Given the description of an element on the screen output the (x, y) to click on. 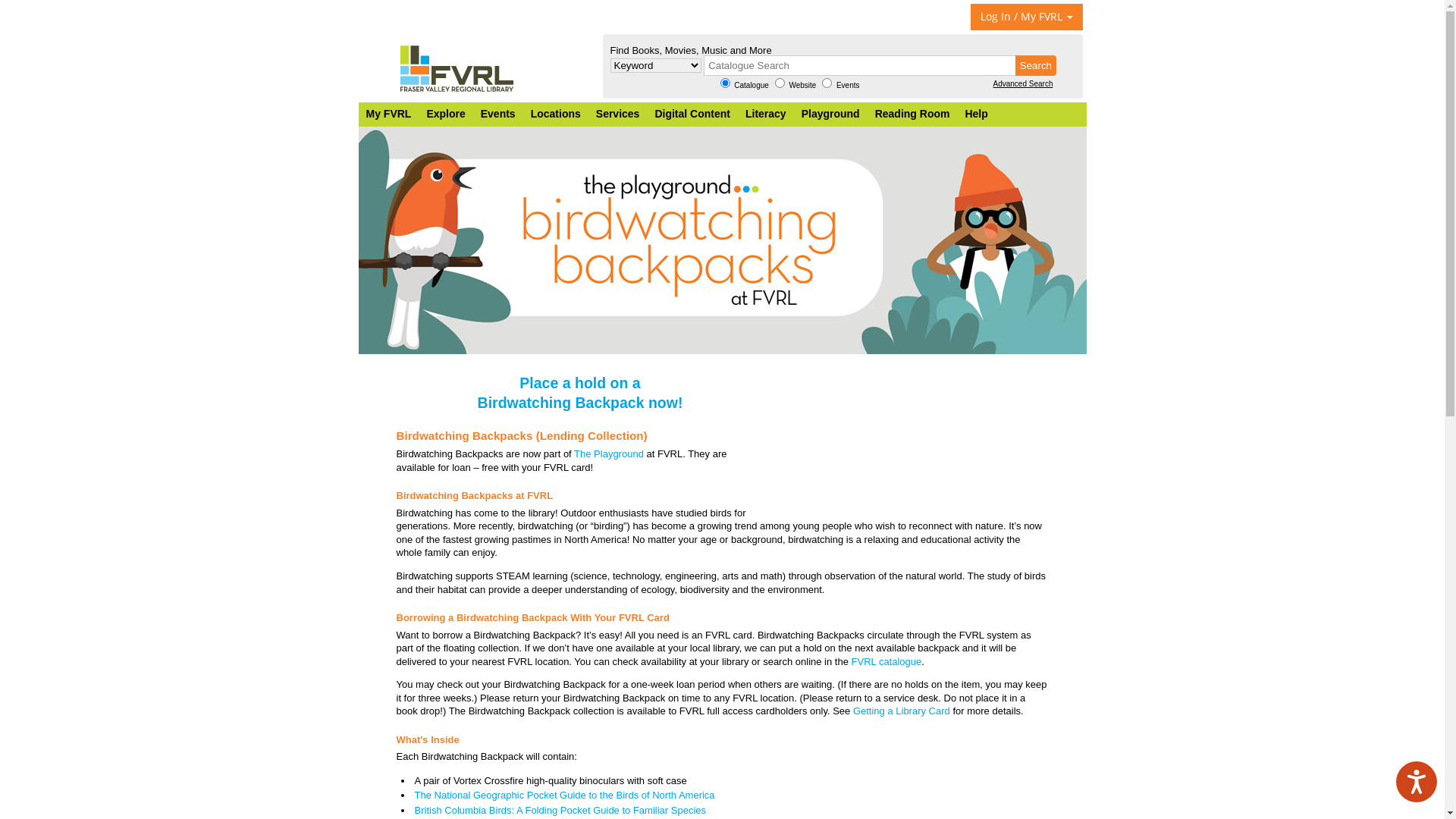
Literacy Element type: text (765, 113)
FVRL catalogue Element type: text (886, 661)
Getting a Library Card Element type: text (901, 710)
Digital Content Element type: text (691, 113)
Log In / My FVRL Element type: text (1026, 16)
Reading Room Element type: text (912, 113)
Locations Element type: text (555, 113)
Help Element type: text (975, 113)
Listen with the ReachDeck Toolbar Element type: hover (1416, 781)
My FVRL Element type: text (387, 113)
Place a hold on a
Birdwatching Backpack now! Element type: text (580, 392)
Search Element type: text (1035, 65)
Explore Element type: text (445, 113)
Catalogue Search Element type: hover (859, 65)
Playground Element type: text (830, 113)
The Playground Element type: text (608, 453)
Advanced Search Element type: text (1023, 83)
Cataloque Search Element type: hover (861, 65)
Events Element type: text (498, 113)
Services Element type: text (617, 113)
